Given the description of an element on the screen output the (x, y) to click on. 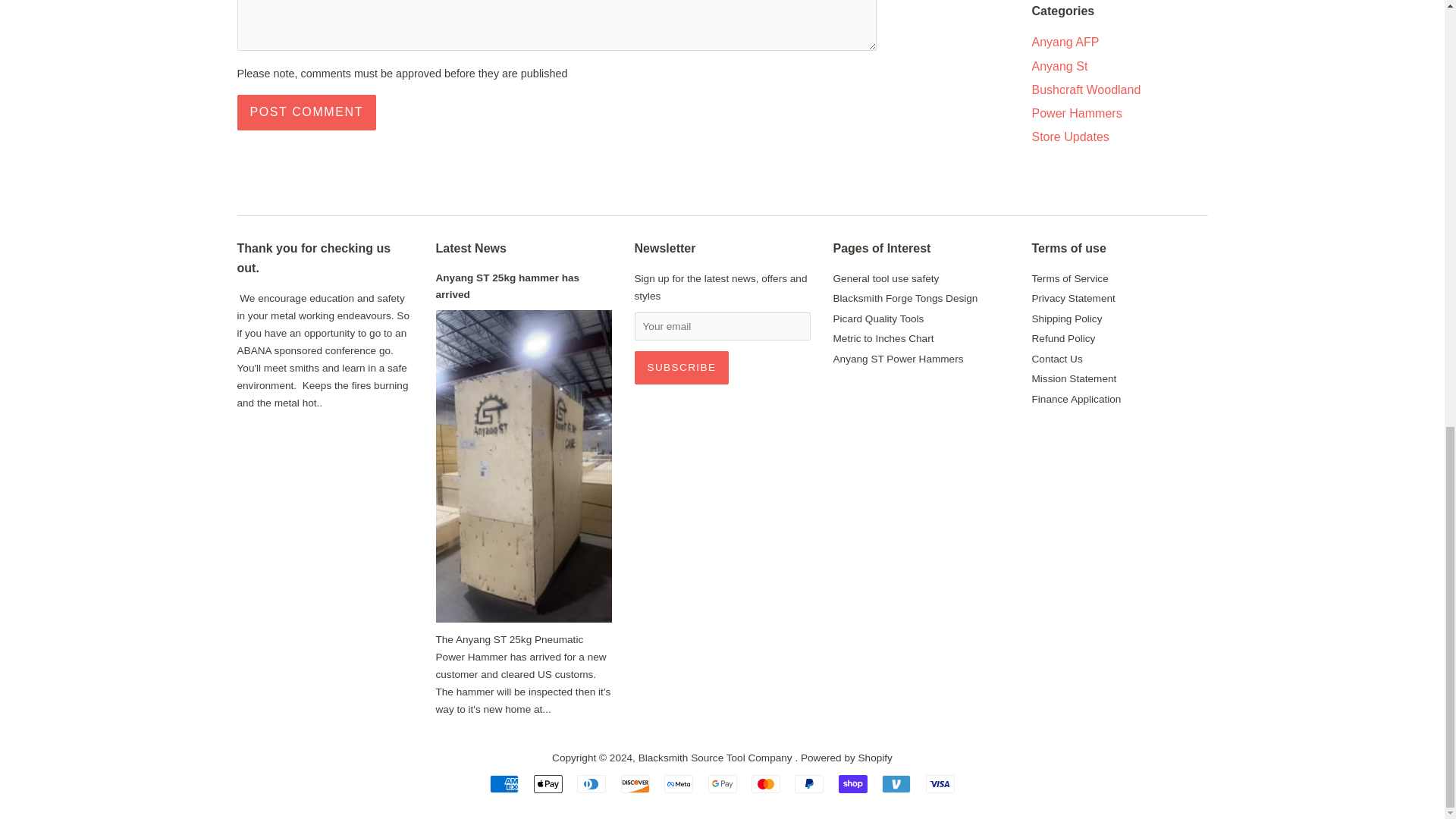
Show articles tagged Store Updates (1069, 136)
Apple Pay (548, 783)
Show articles tagged Anyang St (1058, 65)
PayPal (809, 783)
Meta Pay (678, 783)
Show articles tagged Power Hammers (1075, 113)
Post comment (305, 112)
Visa (940, 783)
Diners Club (590, 783)
Google Pay (721, 783)
American Express (503, 783)
Discover (635, 783)
Shop Pay (852, 783)
Venmo (896, 783)
Show articles tagged Anyang AFP (1064, 42)
